Given the description of an element on the screen output the (x, y) to click on. 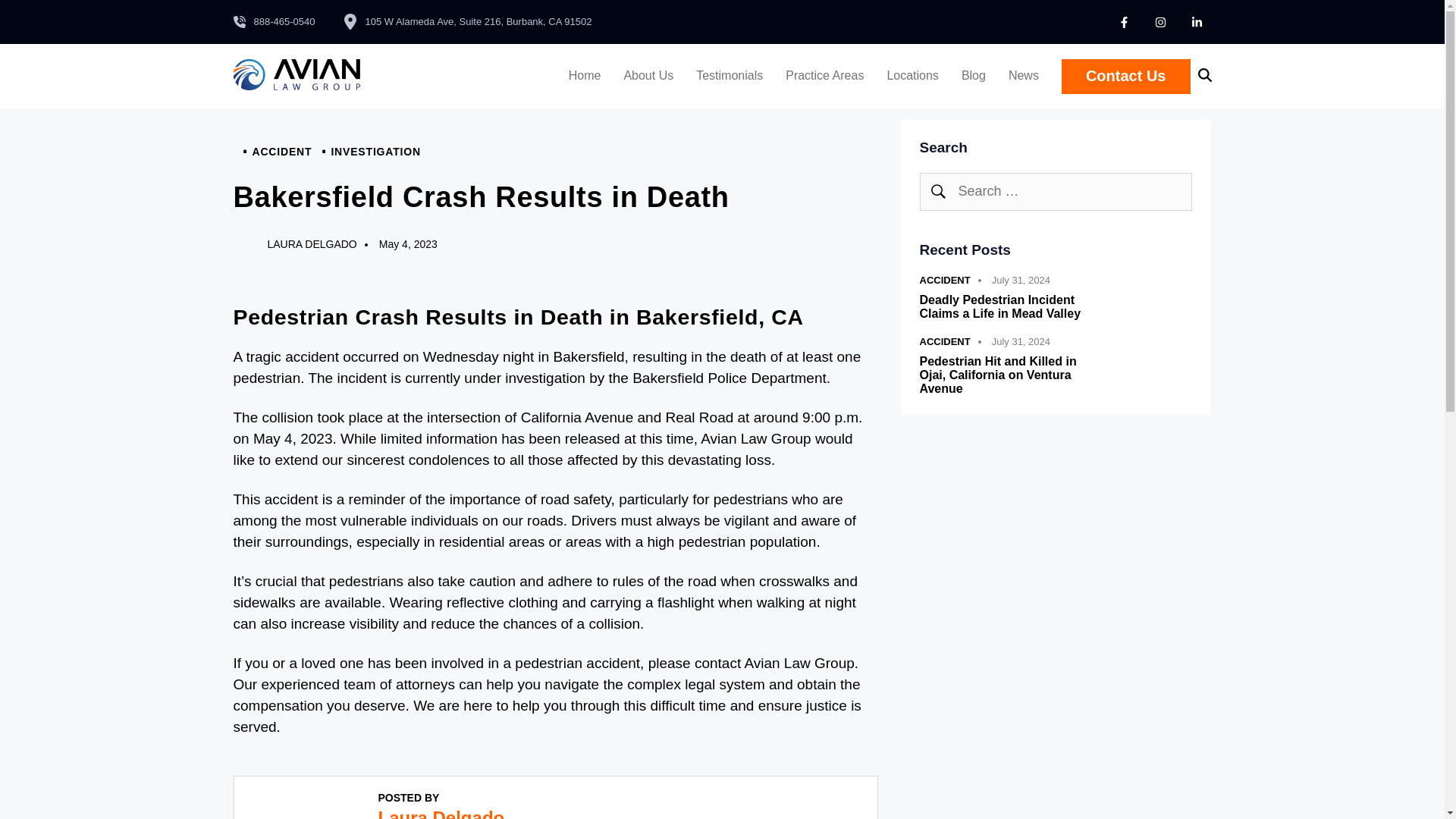
Locations (912, 76)
Practice Areas (824, 76)
About Us (647, 76)
Home (584, 76)
Search (937, 191)
Search (937, 191)
105 W Alameda Ave, Suite 216, Burbank, CA 91502 (467, 21)
Avian Law Group (296, 85)
888-465-0540 (273, 21)
Testimonials (729, 76)
